Given the description of an element on the screen output the (x, y) to click on. 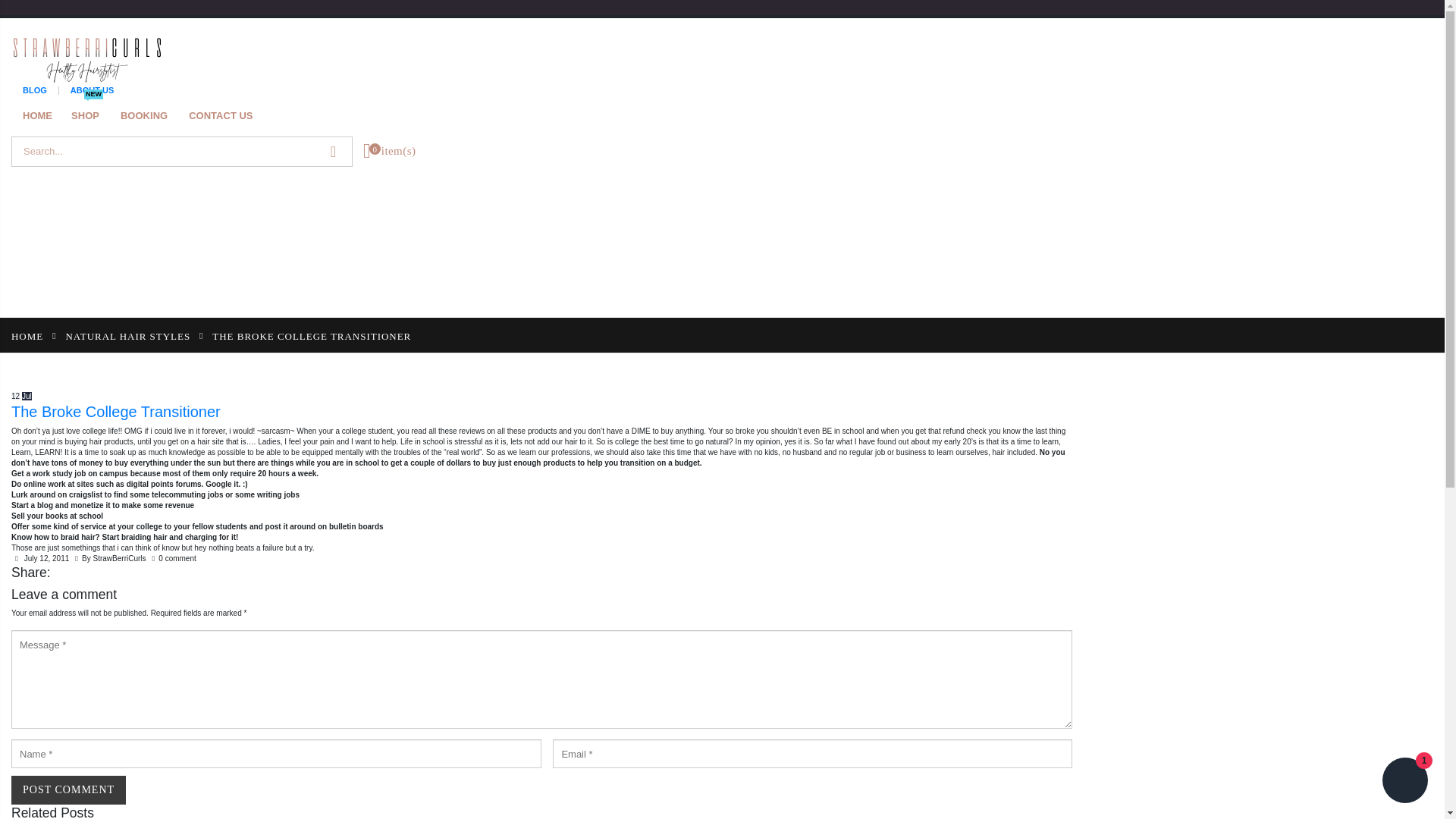
Post comment (68, 789)
Post comment (90, 116)
The Broke College Transitioner (68, 789)
BLOG (541, 412)
HOME (34, 89)
NATURAL HAIR STYLES (43, 116)
ABOUT US (127, 335)
CONTACT US (91, 89)
BOOKING (226, 116)
Back to the frontpage (149, 116)
Search (27, 335)
HOME (332, 150)
